Given the description of an element on the screen output the (x, y) to click on. 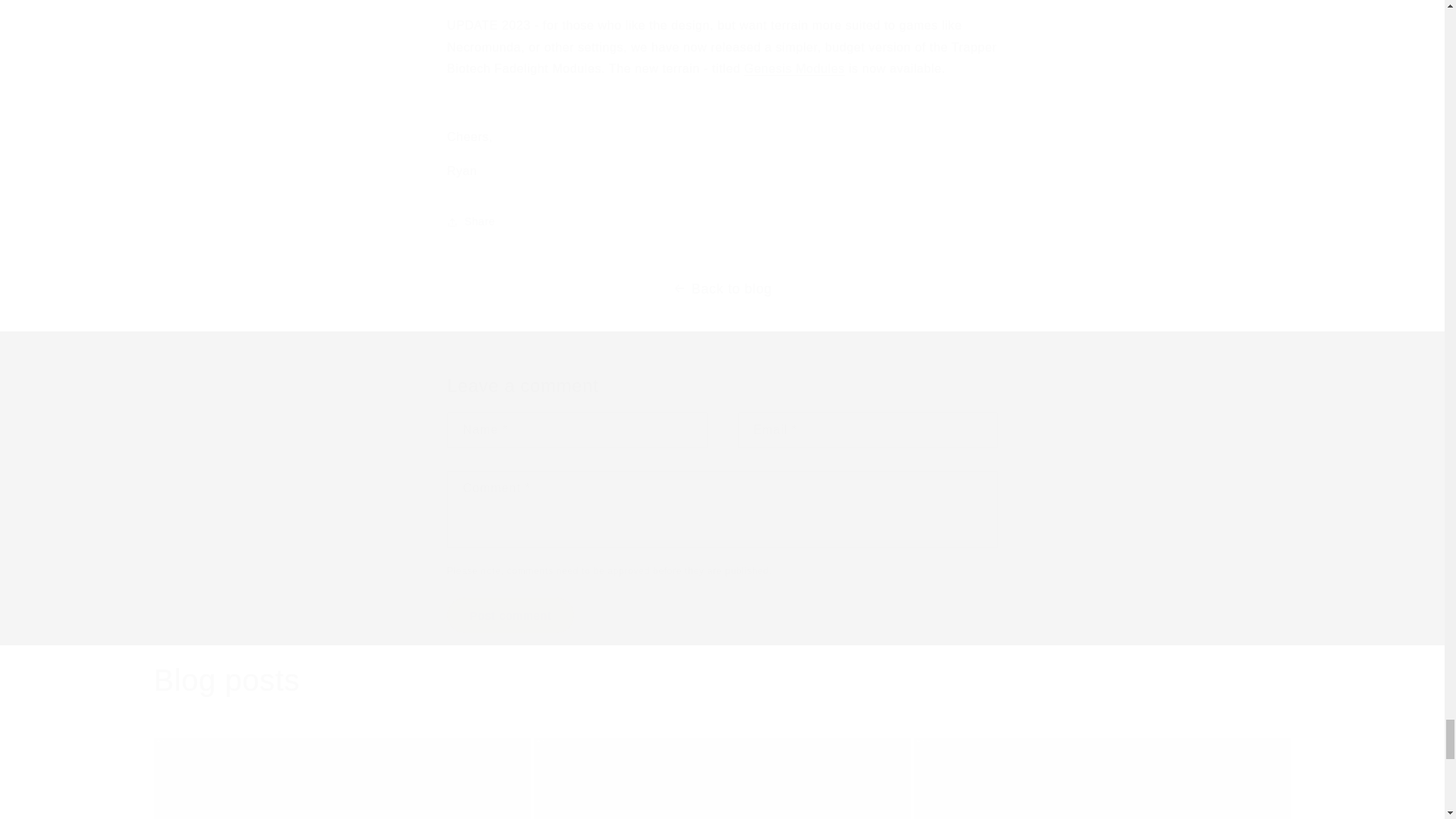
Blog posts (225, 680)
Post comment (1102, 778)
Share (510, 615)
